Given the description of an element on the screen output the (x, y) to click on. 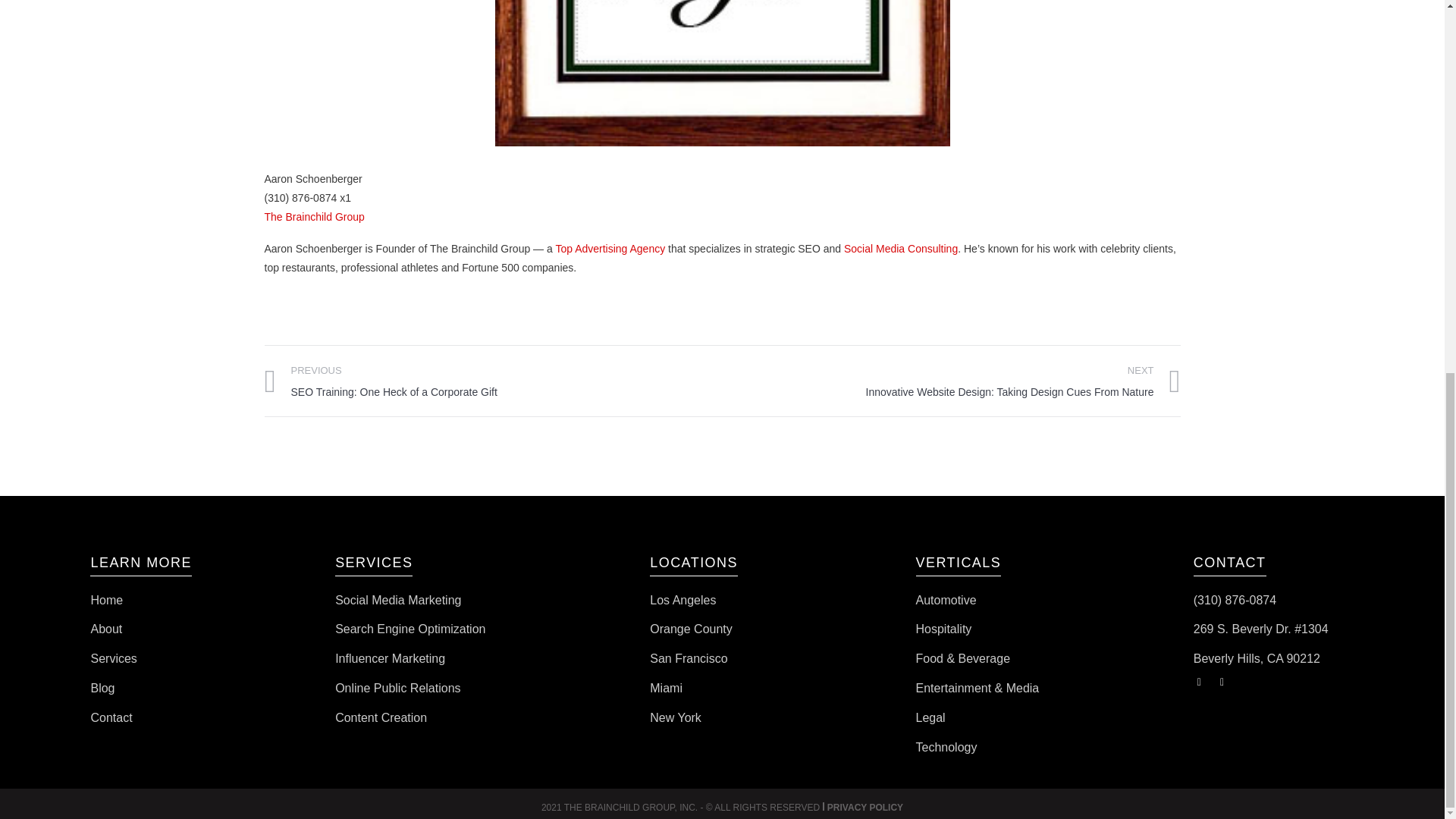
Contact (111, 717)
PRIVACY POLICY (864, 807)
Social Media Consulting (901, 248)
Blog (102, 687)
Home (106, 599)
Services (113, 658)
Top Advertising Agency (609, 248)
About (106, 628)
